Given the description of an element on the screen output the (x, y) to click on. 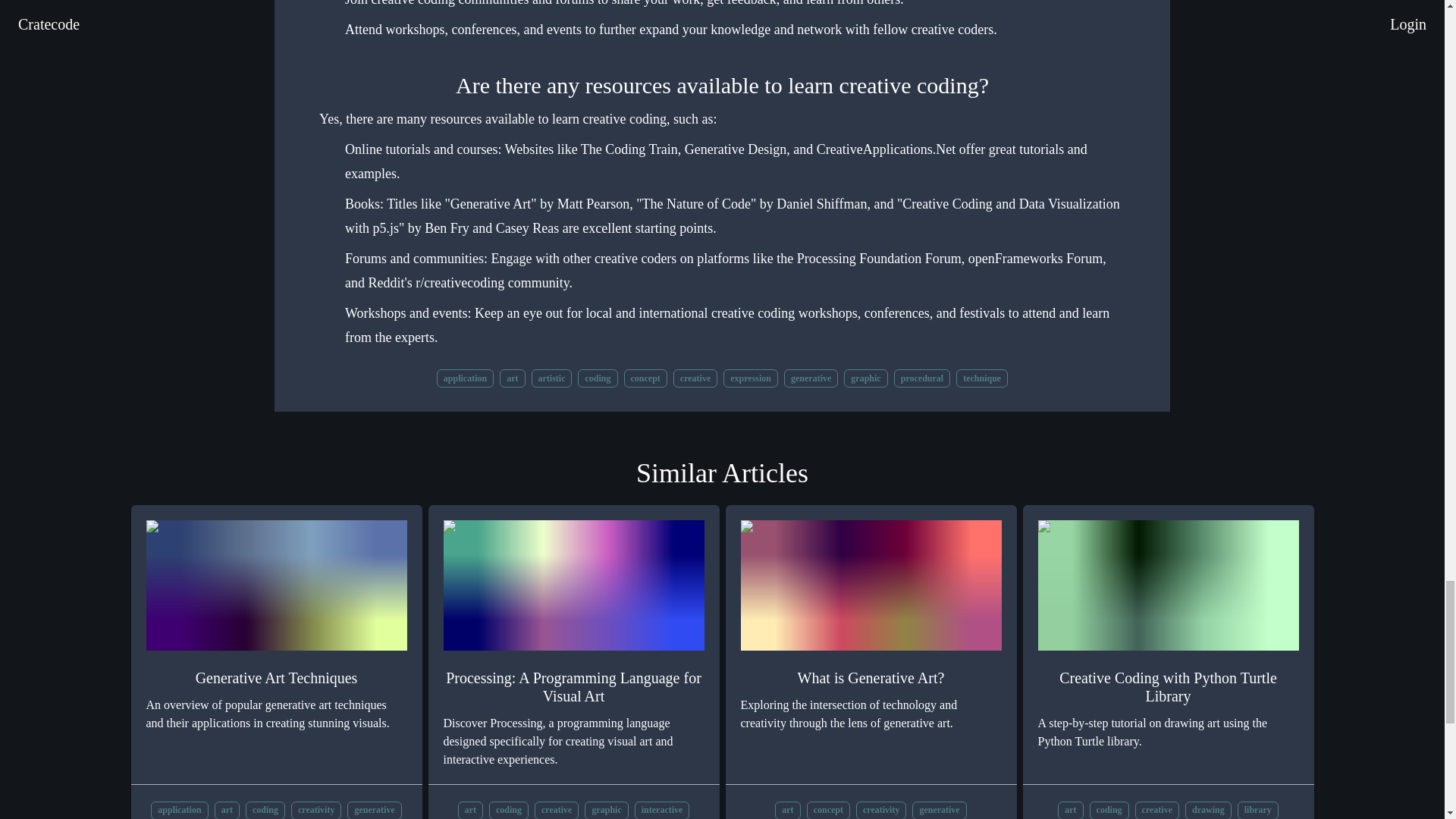
creativity (315, 810)
generative (374, 810)
expression (750, 376)
coding (597, 376)
art (511, 376)
expression (750, 378)
application (179, 810)
creative (694, 376)
generative (811, 376)
procedural (921, 376)
graphic (865, 376)
artistic (551, 378)
application (179, 809)
technique (981, 378)
coding (597, 378)
